Given the description of an element on the screen output the (x, y) to click on. 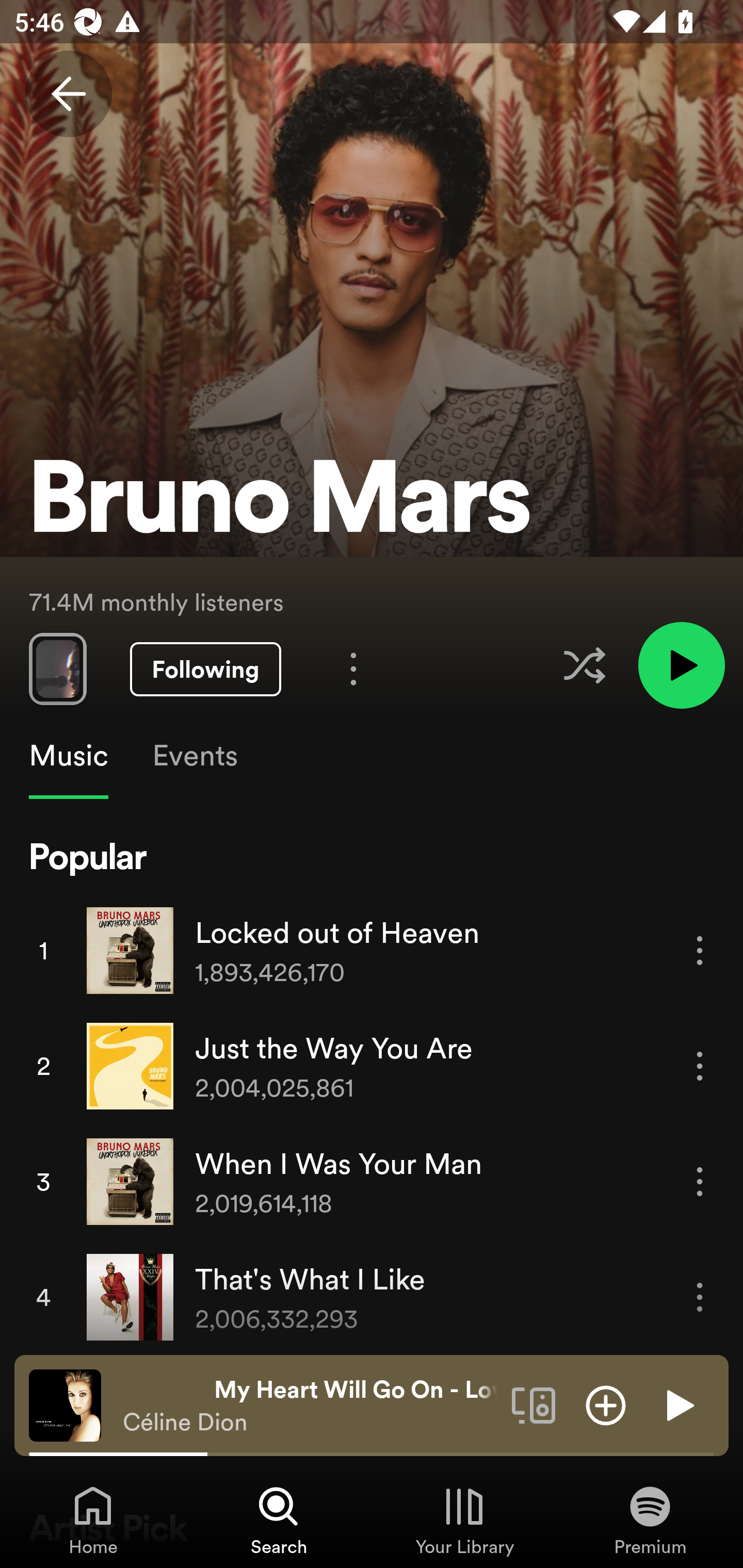
Back (68, 93)
Play artist (681, 664)
Enable shuffle for this artist (583, 665)
Swipe through previews of tracks from this artist. (57, 668)
More options for artist Bruno Mars (352, 668)
Following Unfollow (205, 669)
Events (194, 755)
More options for song Locked out of Heaven (699, 950)
More options for song Just the Way You Are (699, 1066)
More options for song When I Was Your Man (699, 1181)
More options for song That's What I Like (699, 1297)
The cover art of the currently playing track (64, 1404)
Connect to a device. Opens the devices menu (533, 1404)
Add item (605, 1404)
Play (677, 1404)
Home, Tab 1 of 4 Home Home (92, 1519)
Search, Tab 2 of 4 Search Search (278, 1519)
Your Library, Tab 3 of 4 Your Library Your Library (464, 1519)
Premium, Tab 4 of 4 Premium Premium (650, 1519)
